Given the description of an element on the screen output the (x, y) to click on. 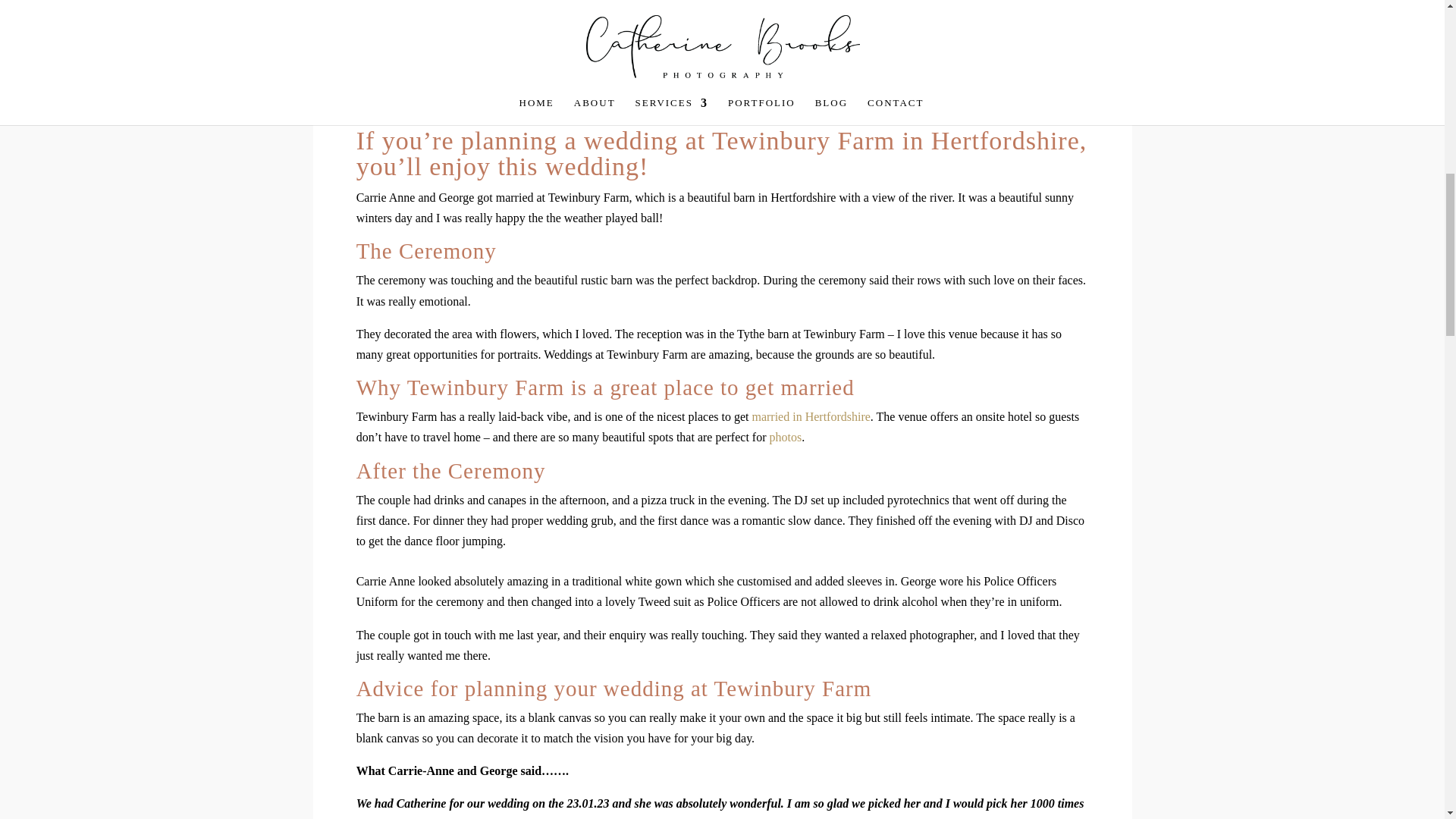
married in Hertfordshire (810, 416)
Tewinbury Farm (803, 140)
Just Married (722, 13)
photos (785, 436)
